Given the description of an element on the screen output the (x, y) to click on. 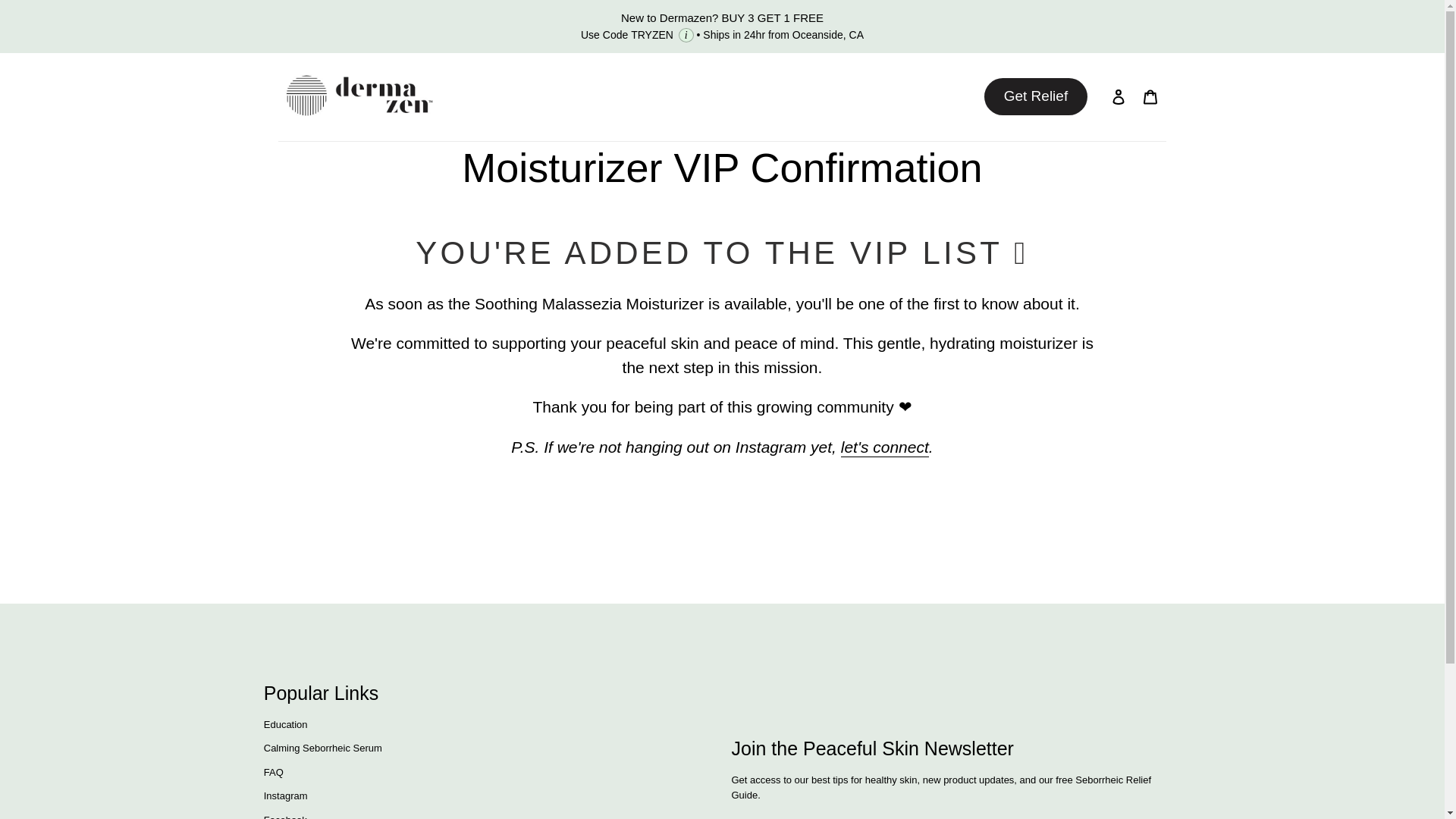
Get Relief (1035, 96)
Cart (1150, 96)
Dermazen Instagram (884, 447)
Log in (1118, 96)
